Given the description of an element on the screen output the (x, y) to click on. 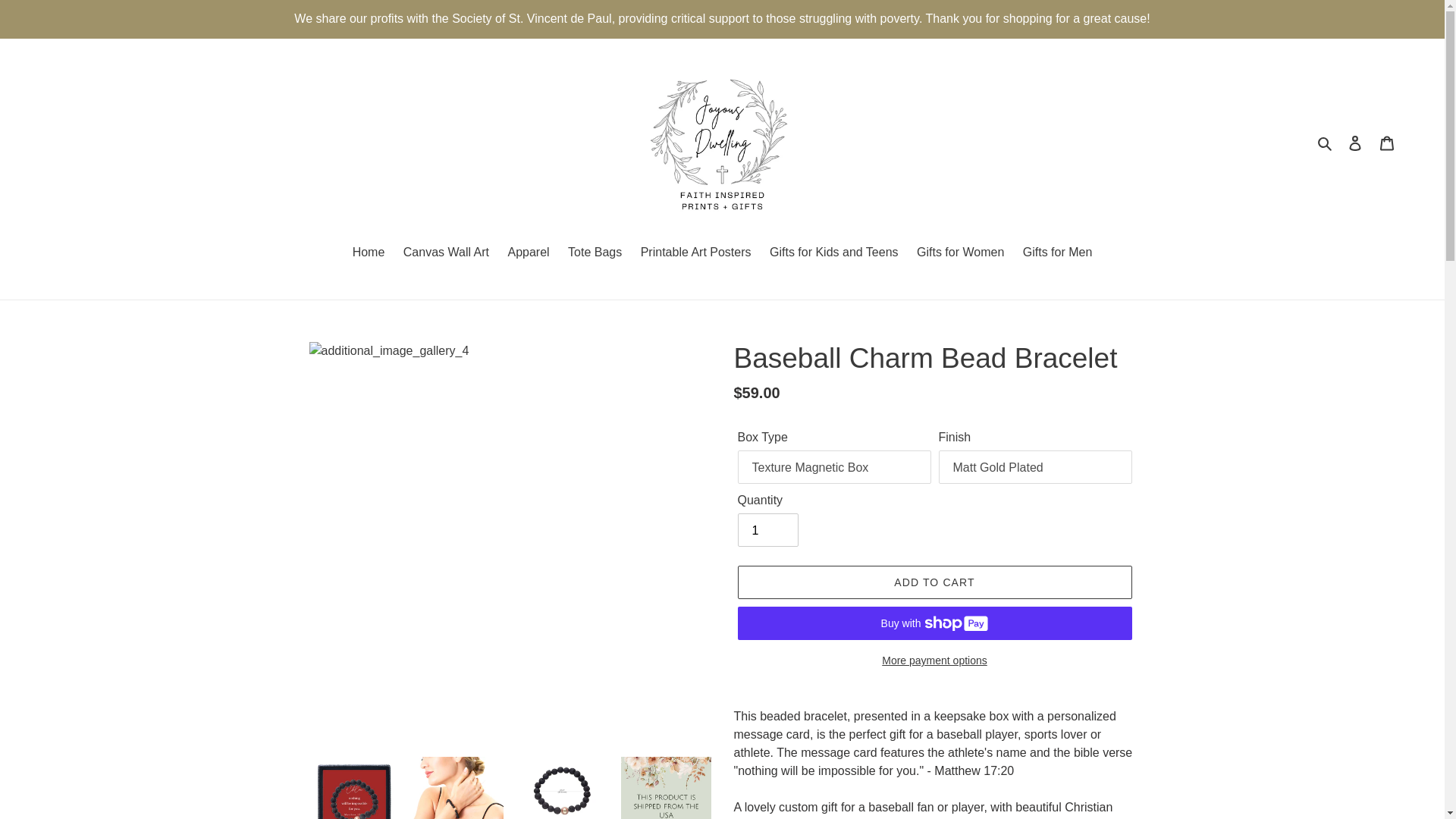
Printable Art Posters (695, 253)
1 (766, 530)
Search (1326, 143)
ADD TO CART (933, 581)
Cart (1387, 142)
Apparel (527, 253)
Tote Bags (594, 253)
Canvas Wall Art (446, 253)
Home (369, 253)
Gifts for Kids and Teens (833, 253)
Log in (1355, 142)
More payment options (933, 660)
Gifts for Women (959, 253)
Gifts for Men (1057, 253)
